Given the description of an element on the screen output the (x, y) to click on. 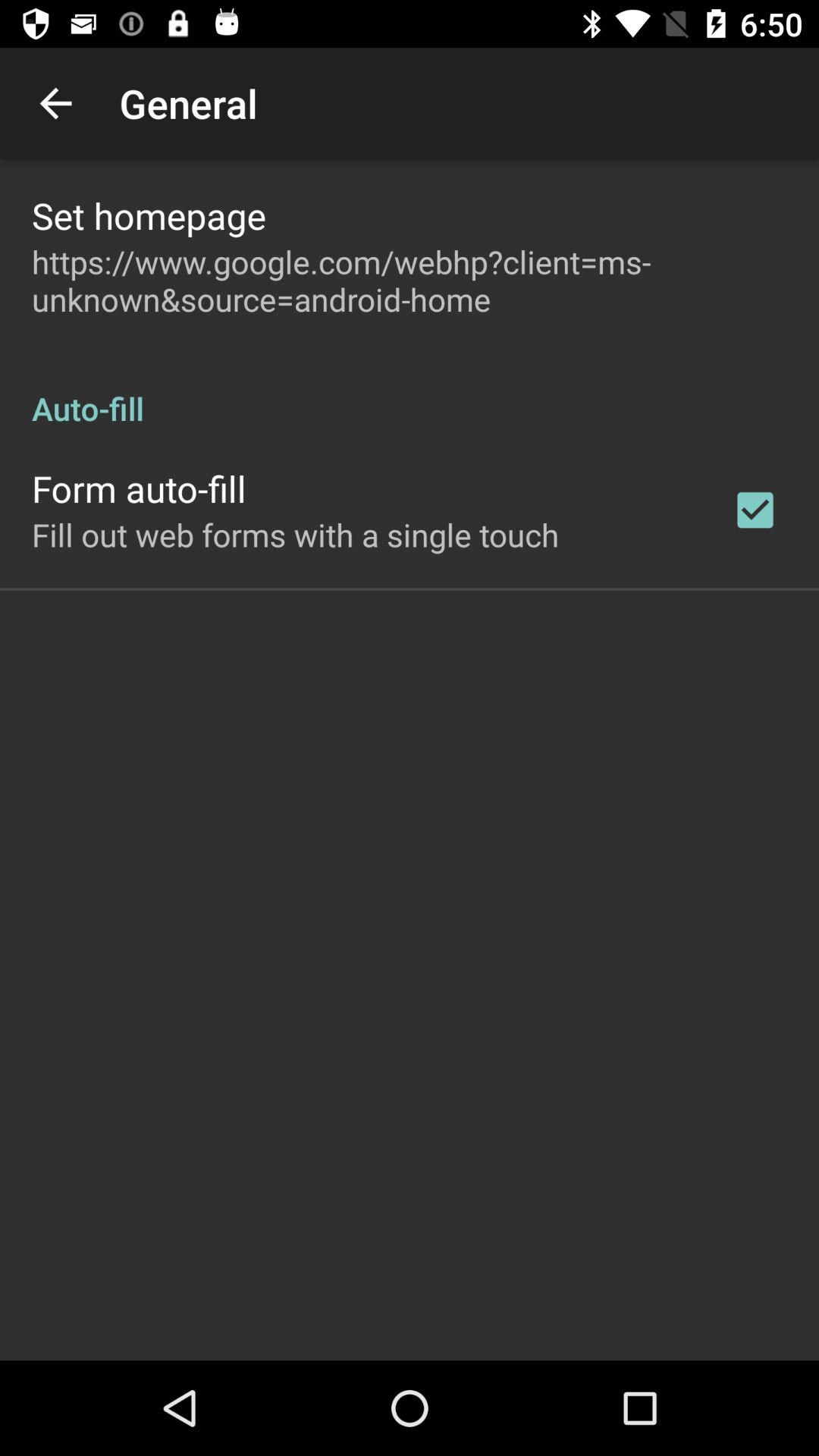
turn on item below auto-fill (755, 510)
